Given the description of an element on the screen output the (x, y) to click on. 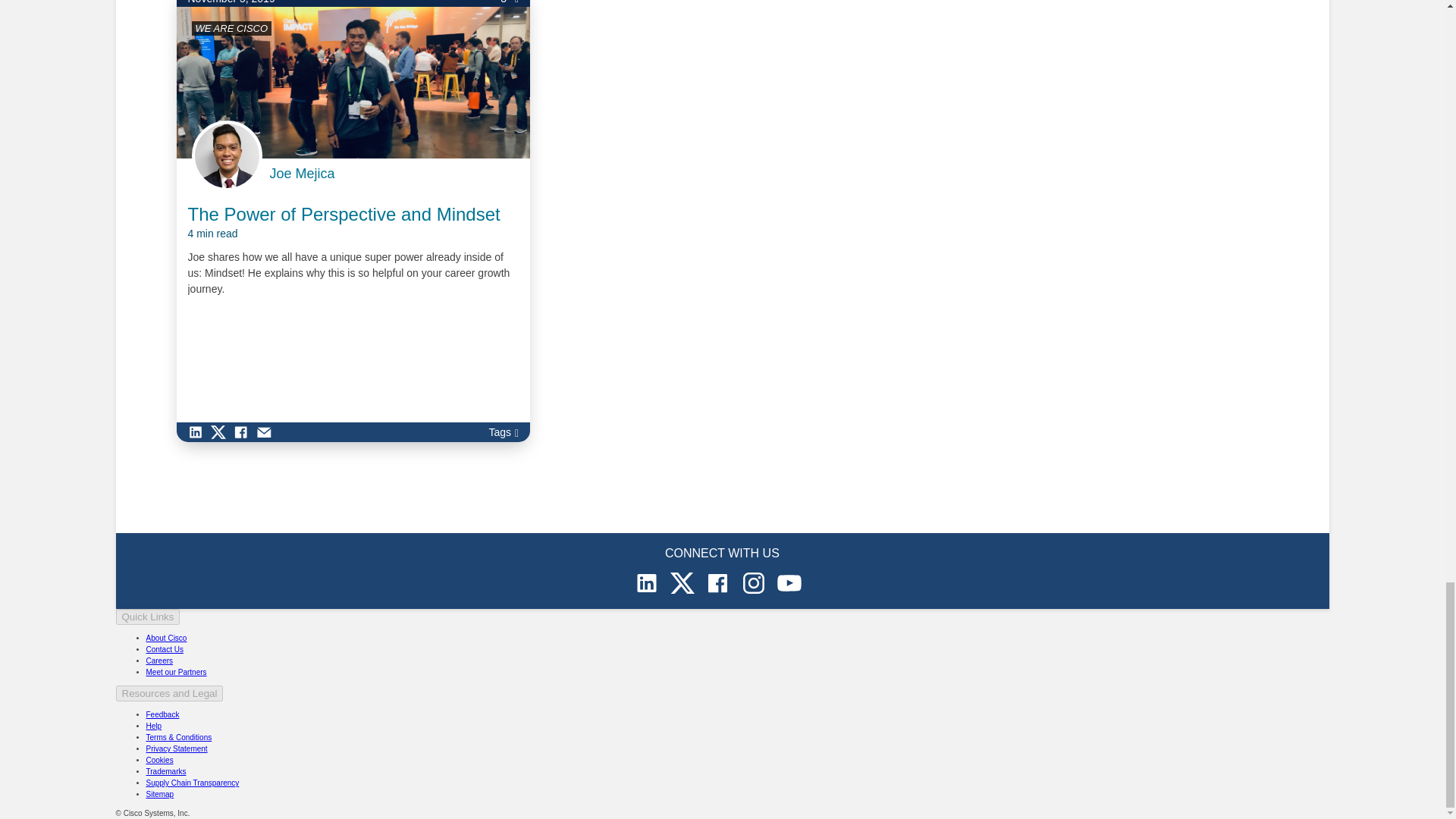
Joe Mejica (301, 173)
3 (509, 3)
WE ARE CISCO (231, 28)
The Power of Perspective and Mindset (343, 221)
Posts by Joe Mejica (301, 173)
